Given the description of an element on the screen output the (x, y) to click on. 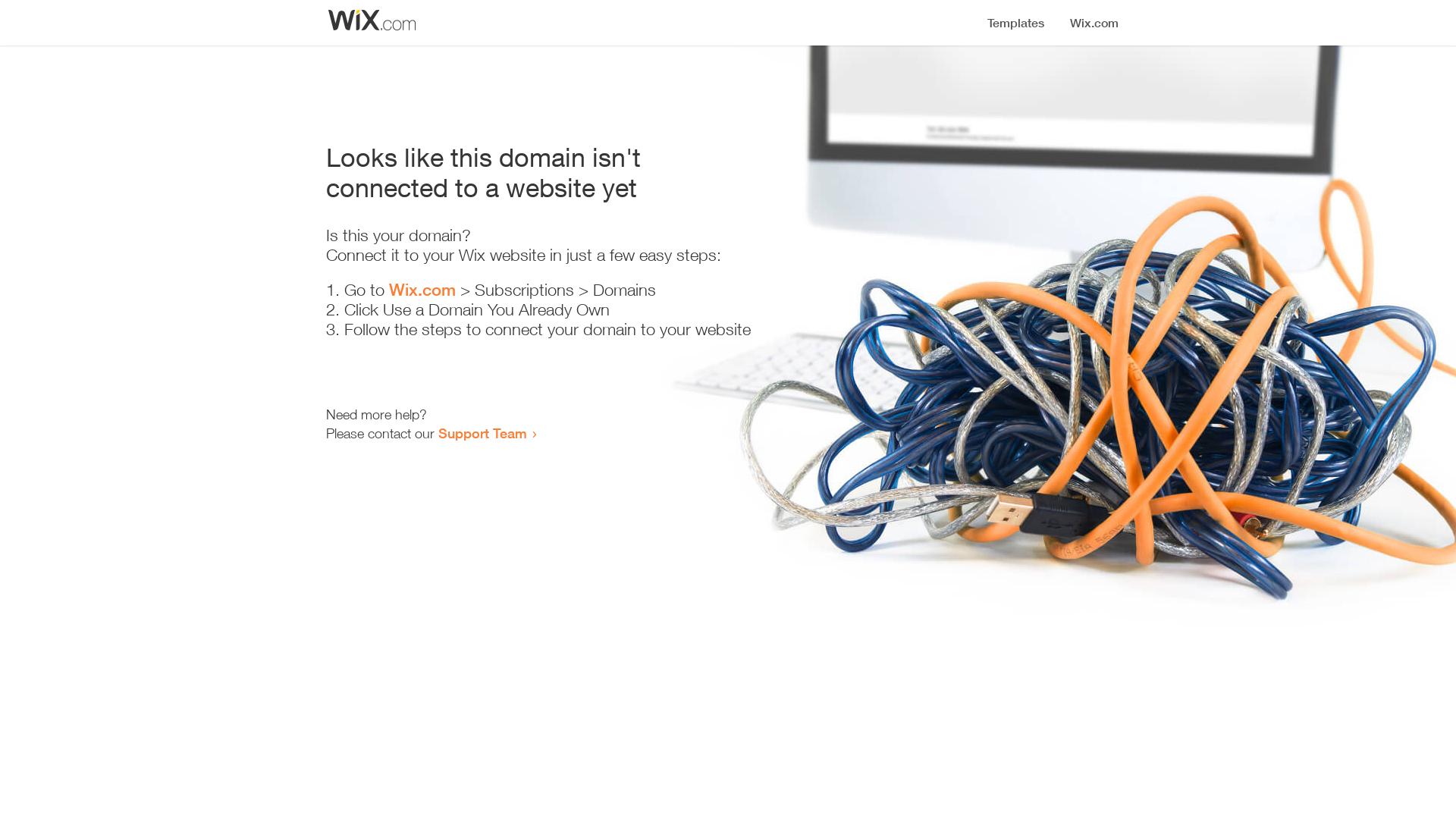
Support Team Element type: text (482, 432)
Wix.com Element type: text (422, 289)
